Given the description of an element on the screen output the (x, y) to click on. 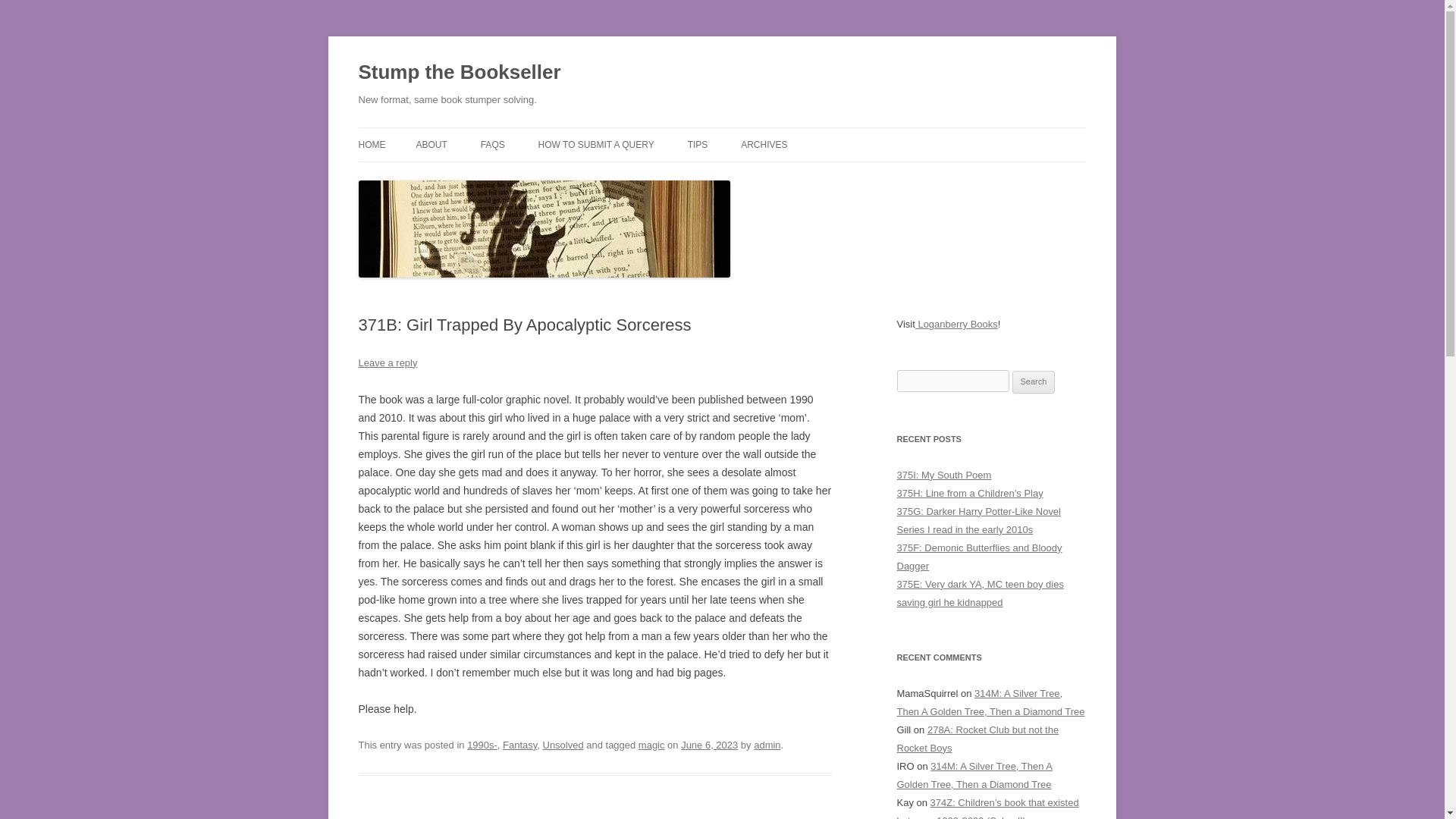
View all posts by admin (767, 745)
4:06 pm (709, 745)
Stump the Bookseller (459, 72)
June 6, 2023 (709, 745)
Stump the Bookseller (459, 72)
ABOUT (430, 144)
ARCHIVES (764, 144)
Search (1033, 382)
